Given the description of an element on the screen output the (x, y) to click on. 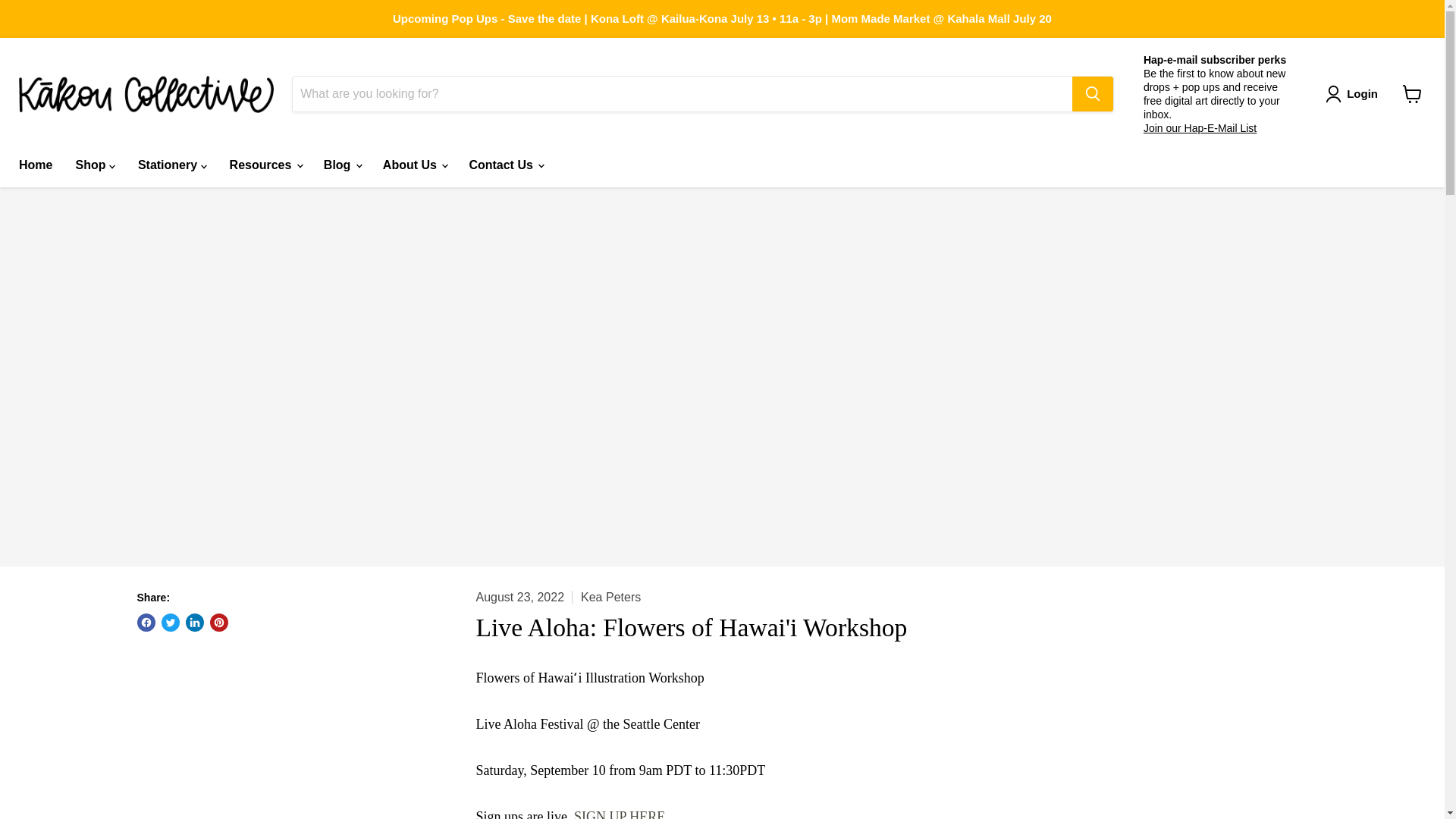
Seattle Live Aloha Festival Workshop Kakou Collective (620, 814)
Home (35, 164)
View cart (1411, 93)
Hap-e-mail subscriber perks (1213, 59)
Login (1354, 94)
Join our Hap-E-Mail List (1199, 128)
